Given the description of an element on the screen output the (x, y) to click on. 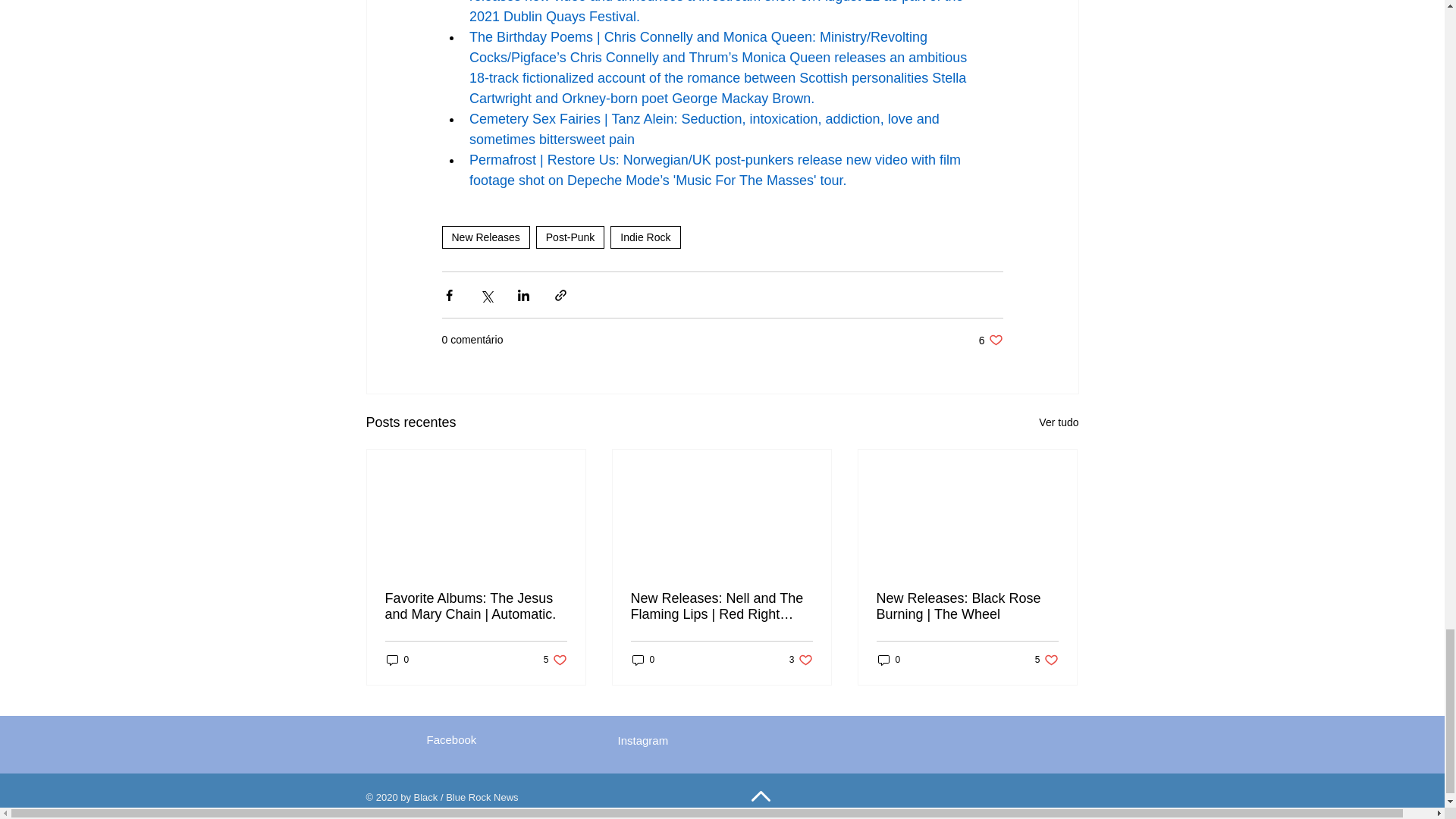
0 (397, 659)
Ver tudo (1058, 422)
0 (889, 659)
Indie Rock (644, 237)
New Releases (485, 237)
Post-Punk (570, 237)
0 (643, 659)
